Given the description of an element on the screen output the (x, y) to click on. 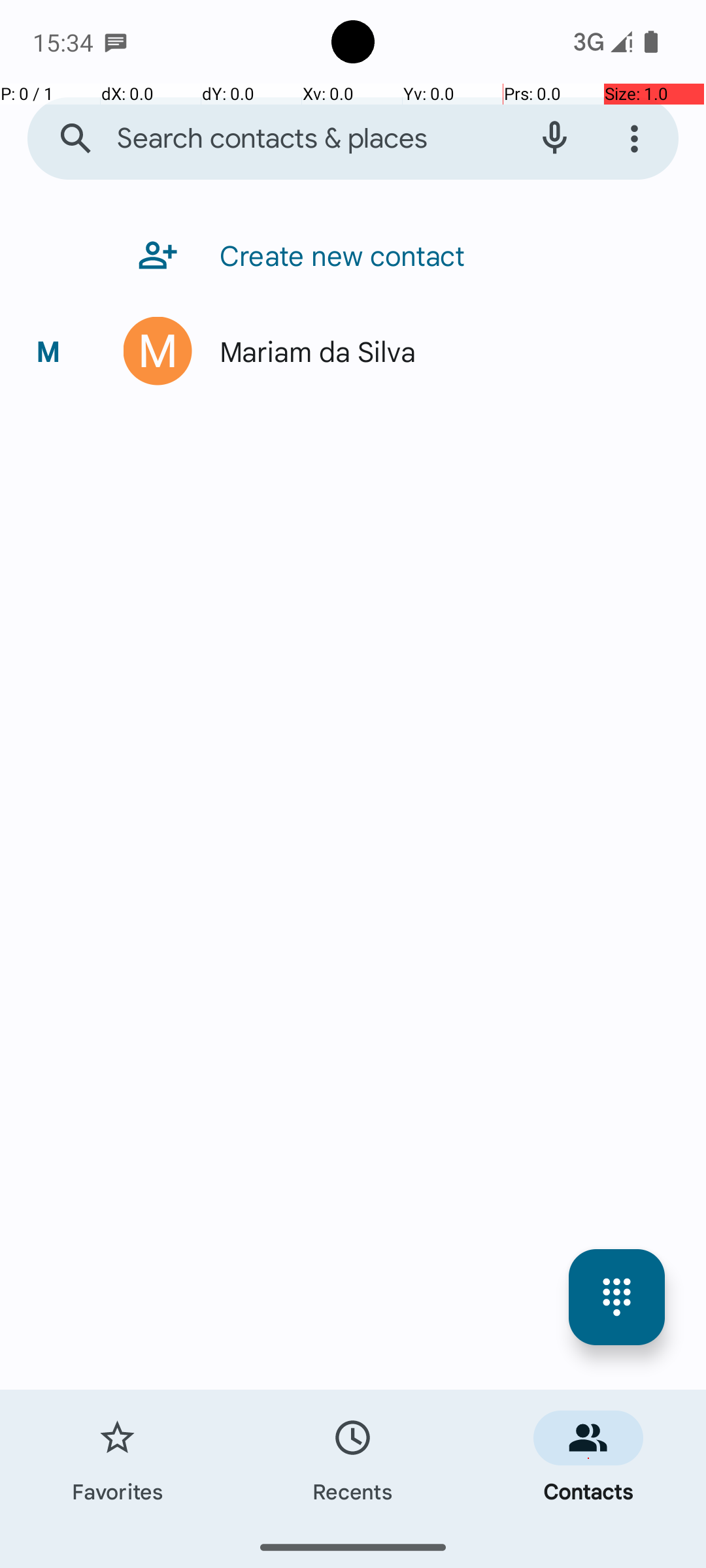
key pad Element type: android.widget.ImageButton (616, 1297)
Recents Element type: android.widget.FrameLayout (352, 1457)
Start voice search Element type: android.widget.Button (554, 138)
Create new contact Element type: android.widget.TextView (335, 254)
Quick contact for Mariam da Silva Element type: android.widget.QuickContactBadge (157, 350)
Mariam da Silva Element type: android.widget.TextView (310, 350)
